Given the description of an element on the screen output the (x, y) to click on. 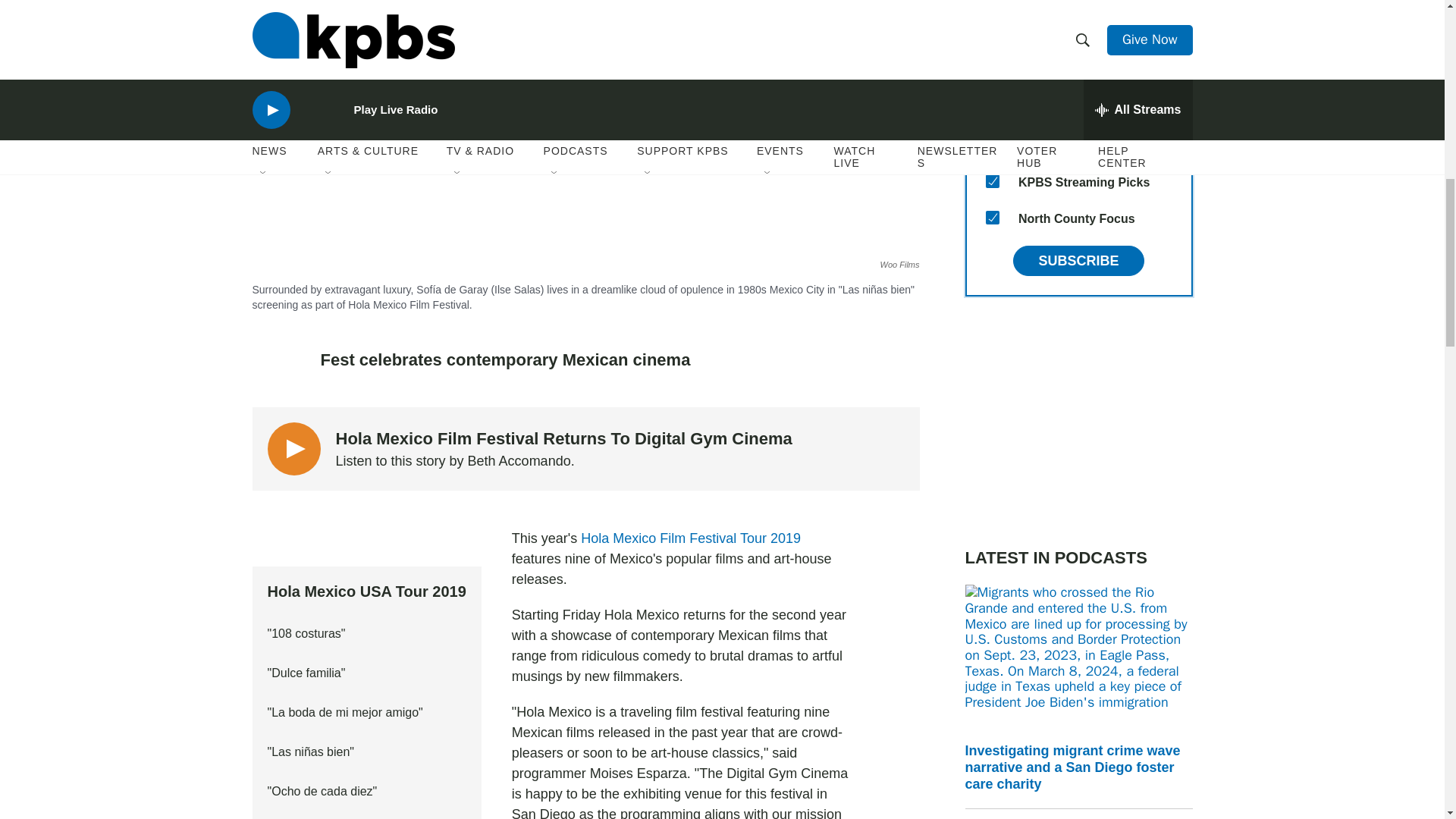
6 (991, 71)
2 (991, 108)
8 (991, 181)
4 (991, 2)
1 (991, 144)
5 (991, 35)
15 (991, 217)
